Given the description of an element on the screen output the (x, y) to click on. 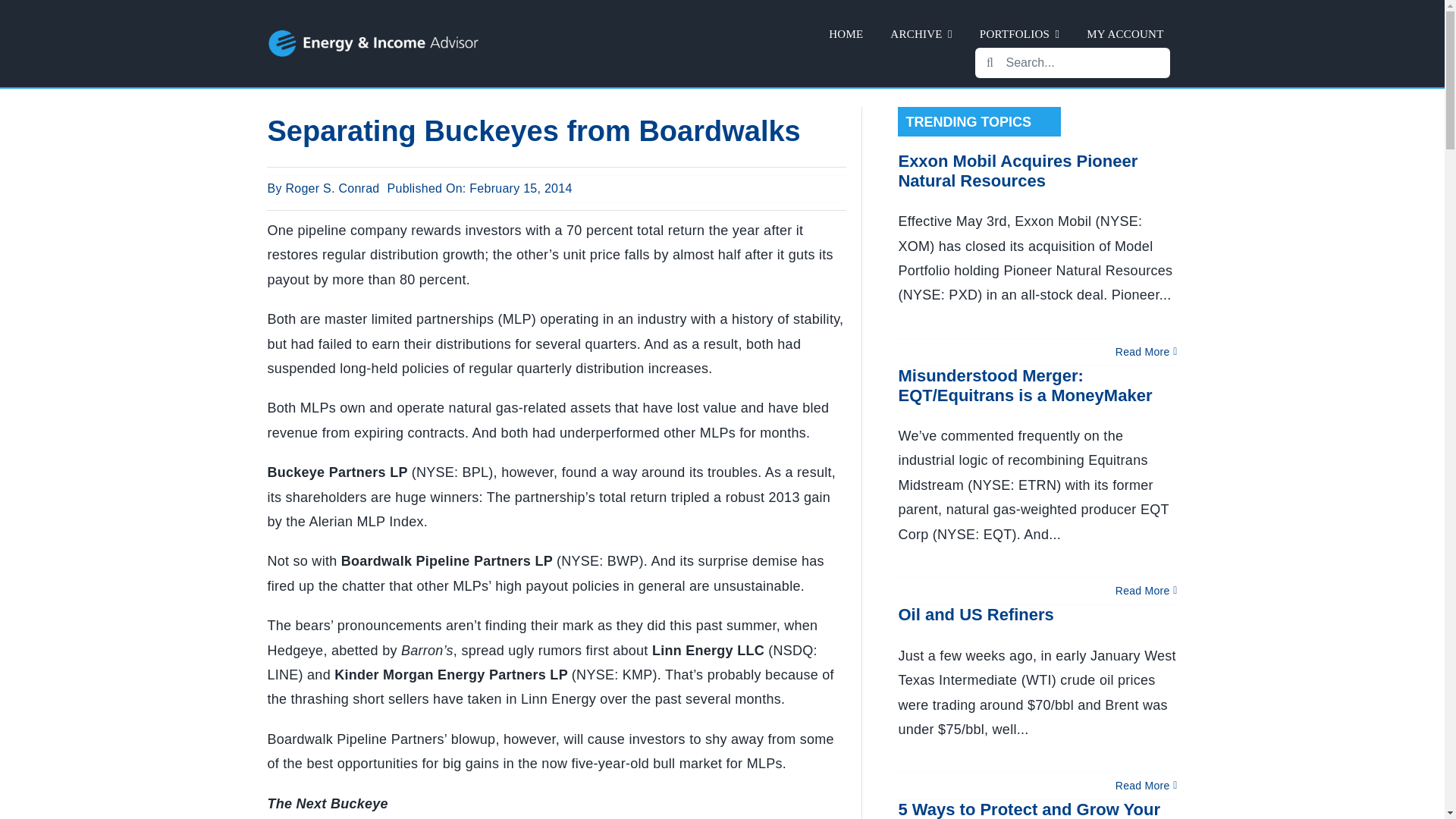
Read More (1142, 351)
ARCHIVE (920, 33)
Read More (1142, 785)
Posts by Roger S. Conrad (331, 187)
MY ACCOUNT (1124, 33)
Read More (1142, 590)
Exxon Mobil Acquires Pioneer Natural Resources (1017, 170)
HOME (845, 33)
PORTFOLIOS (1019, 33)
